Given the description of an element on the screen output the (x, y) to click on. 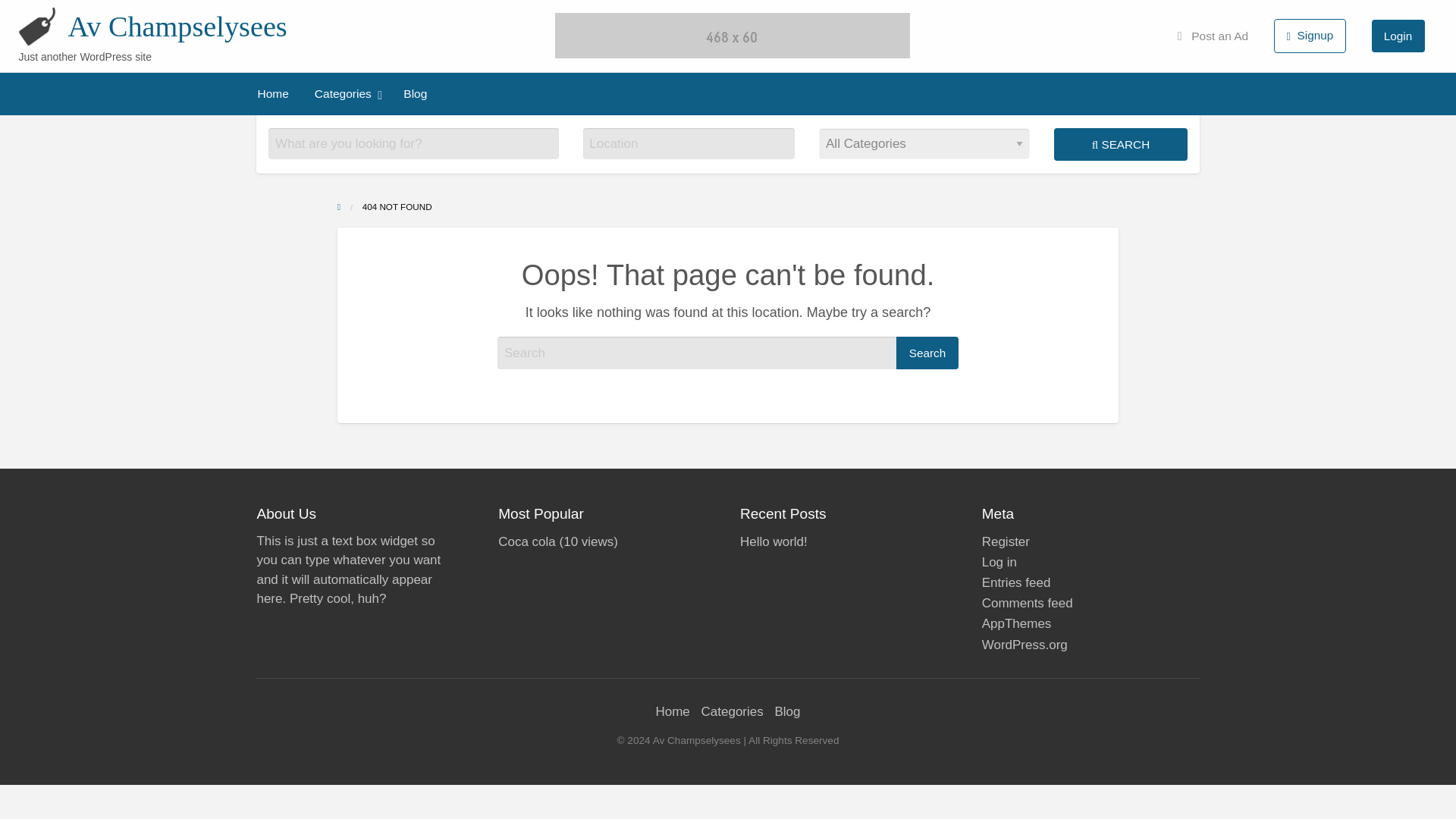
Search (927, 352)
Search (927, 352)
Log in (998, 562)
Register (1005, 541)
SEARCH (1120, 143)
Coca cola (526, 541)
AppThemes (1016, 623)
Search (927, 352)
Premium WordPress Themes (1016, 623)
Blog (414, 93)
Signup (1309, 35)
Signup (1309, 35)
Post an Ad (1212, 35)
Av Champselysees (176, 26)
Login (1398, 35)
